Given the description of an element on the screen output the (x, y) to click on. 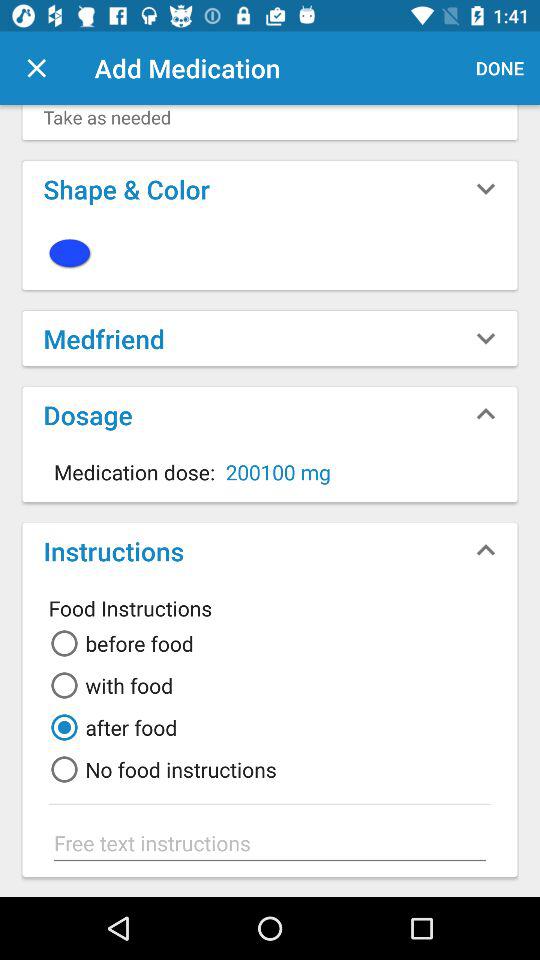
press the icon next to add medication item (500, 67)
